Given the description of an element on the screen output the (x, y) to click on. 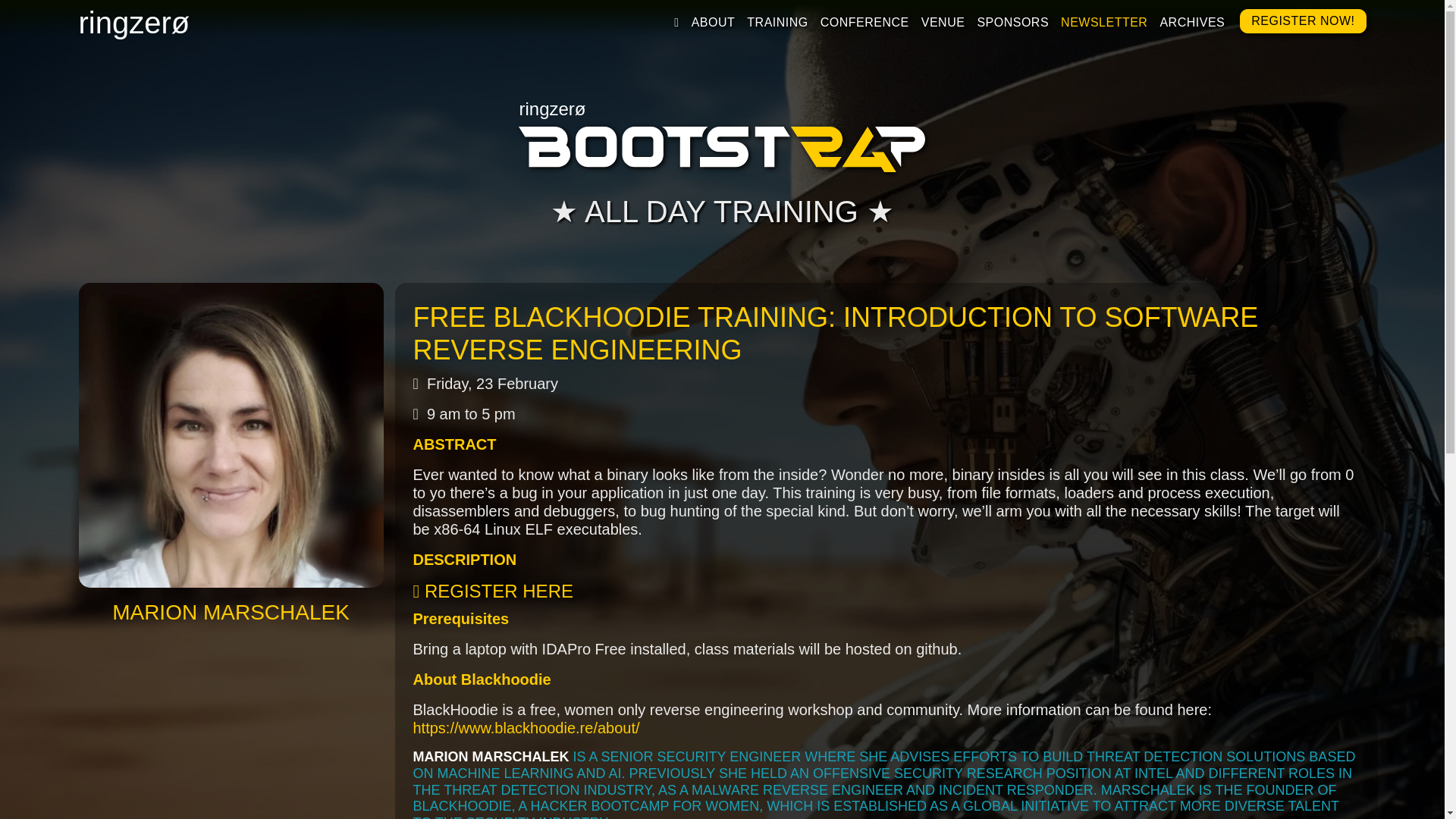
VENUE (943, 22)
Subscribe to our Newsletter (1104, 22)
TRAINING (777, 22)
CONFERENCE (864, 22)
NEWSLETTER (1104, 22)
About Ringzer0 (713, 22)
Venue (943, 22)
Training (777, 22)
SPONSORS (1012, 22)
Friends and Sponsors (1012, 22)
ABOUT (713, 22)
REGISTER NOW! (1302, 21)
Register Now (1302, 21)
Conference (864, 22)
ARCHIVES (1191, 22)
